Given the description of an element on the screen output the (x, y) to click on. 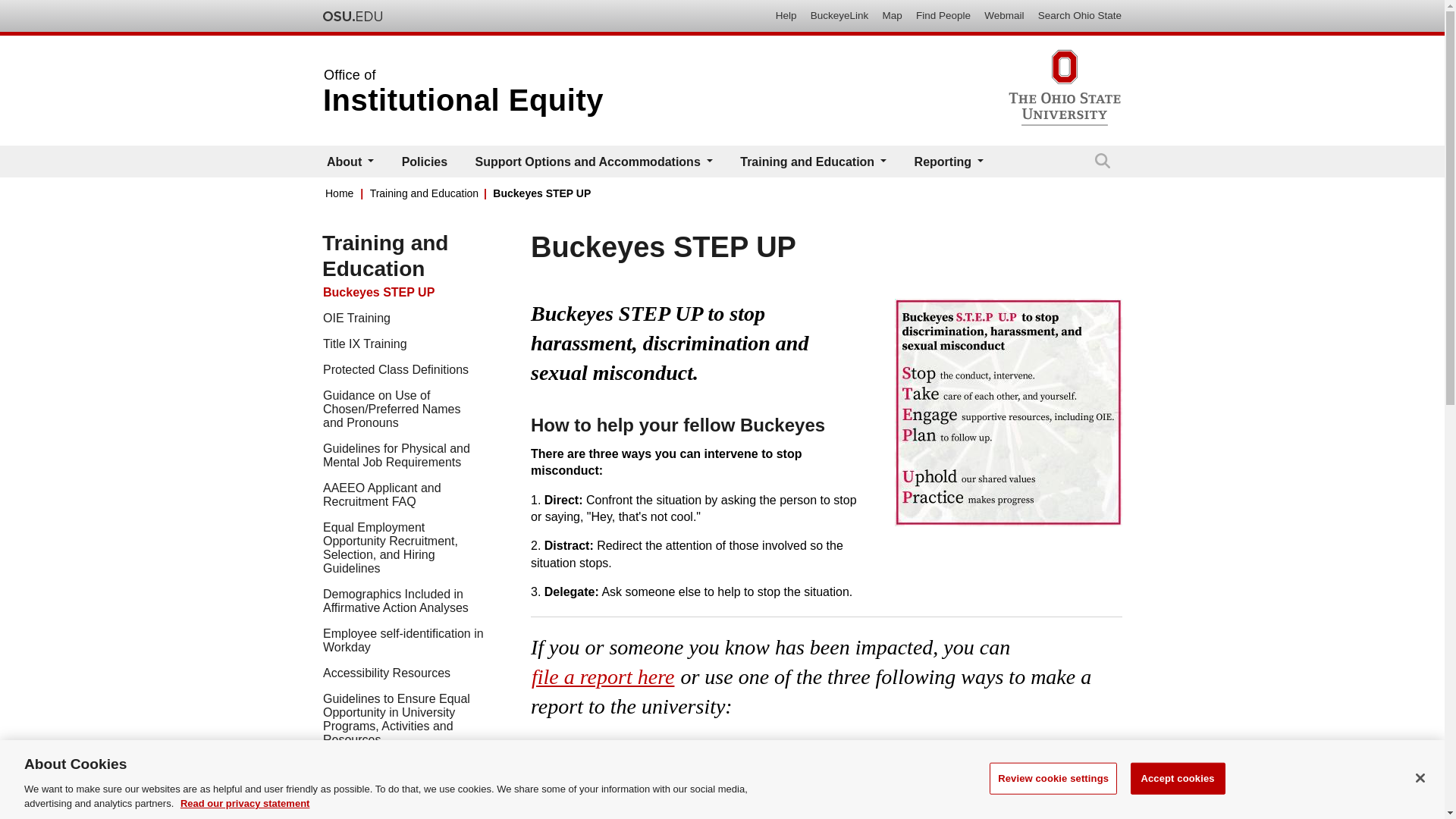
The Ohio State University (351, 15)
Map (891, 17)
About (349, 160)
Find People (943, 17)
Policies (425, 160)
The Ohio State University (351, 15)
Support Options and Accommodations (594, 160)
home (462, 100)
Help (785, 17)
Webmail (1004, 17)
Institutional Equity (462, 100)
Search Ohio State (1079, 17)
BuckeyeLink (839, 17)
